Given the description of an element on the screen output the (x, y) to click on. 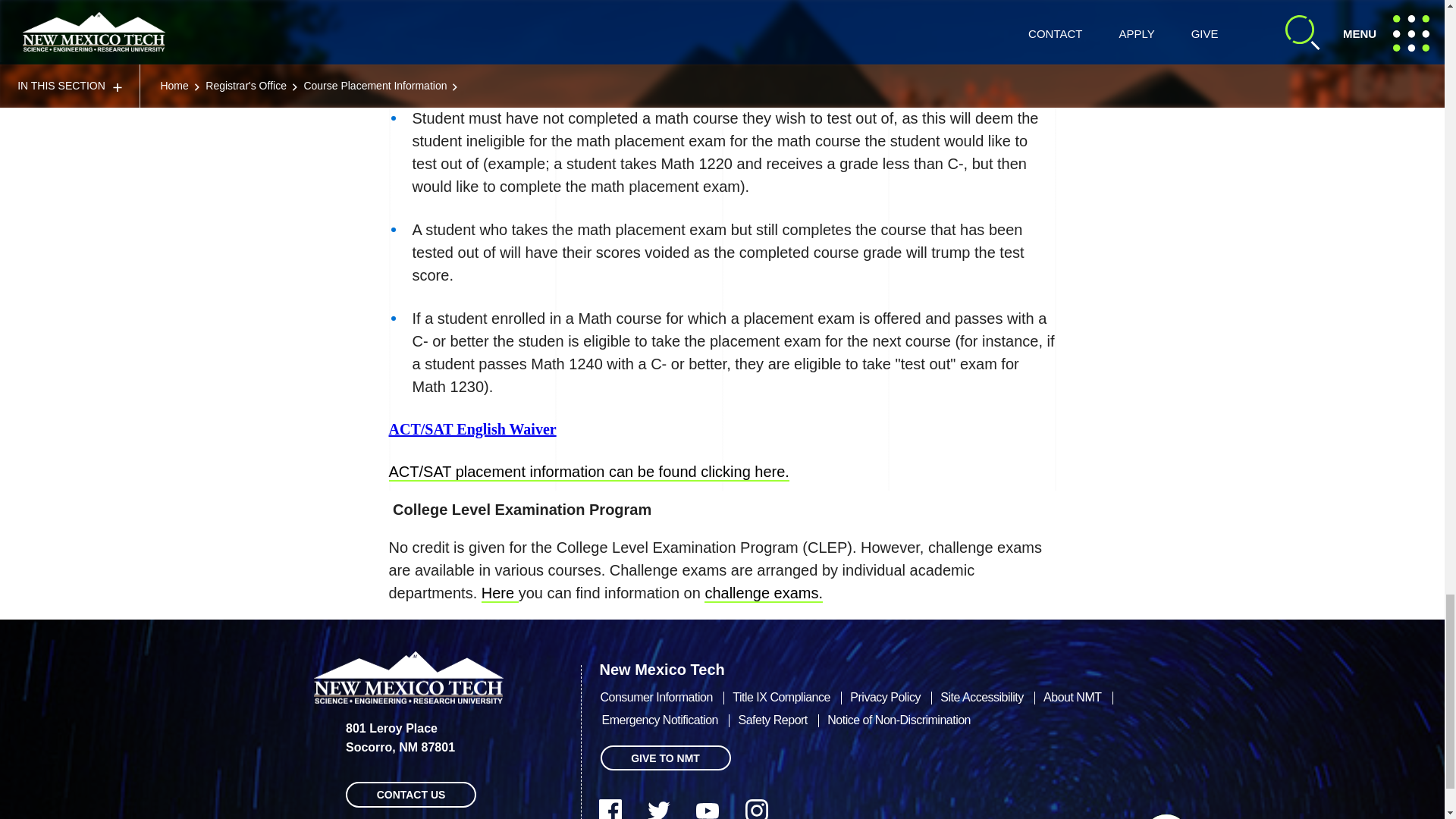
ACT English placement (588, 471)
Challenge exam information (499, 592)
